Given the description of an element on the screen output the (x, y) to click on. 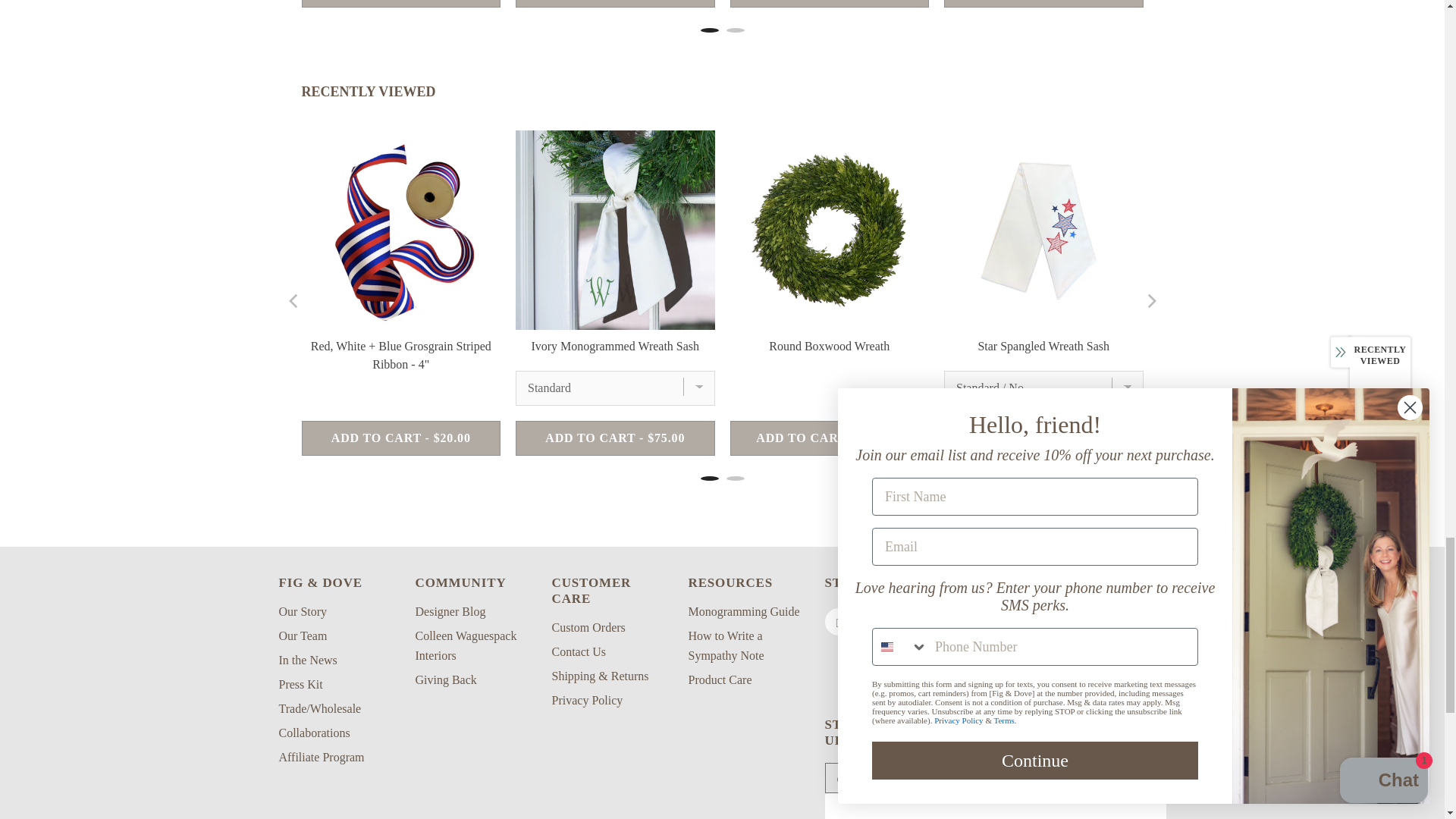
Submit (1097, 777)
